Given the description of an element on the screen output the (x, y) to click on. 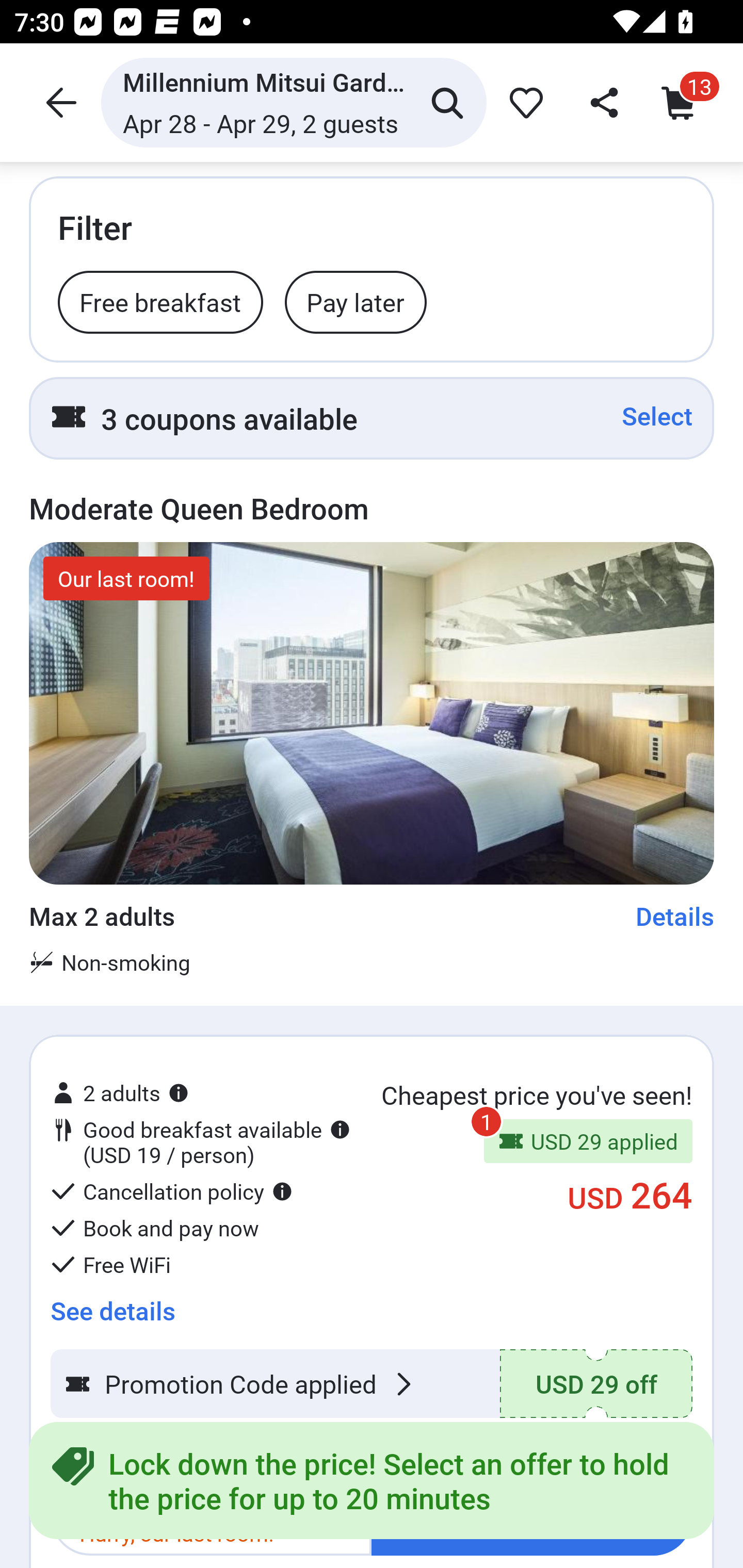
header icon (59, 102)
favorite_icon 0dbe6efb (522, 102)
share_header_icon (601, 102)
Cart icon cart_item_count 13 (683, 102)
Free breakfast (160, 301)
Pay later (355, 301)
Select (656, 416)
3 coupons available Select (371, 417)
image (371, 713)
Details (674, 916)
Cancellation policy (171, 1191)
See details (112, 1303)
